Given the description of an element on the screen output the (x, y) to click on. 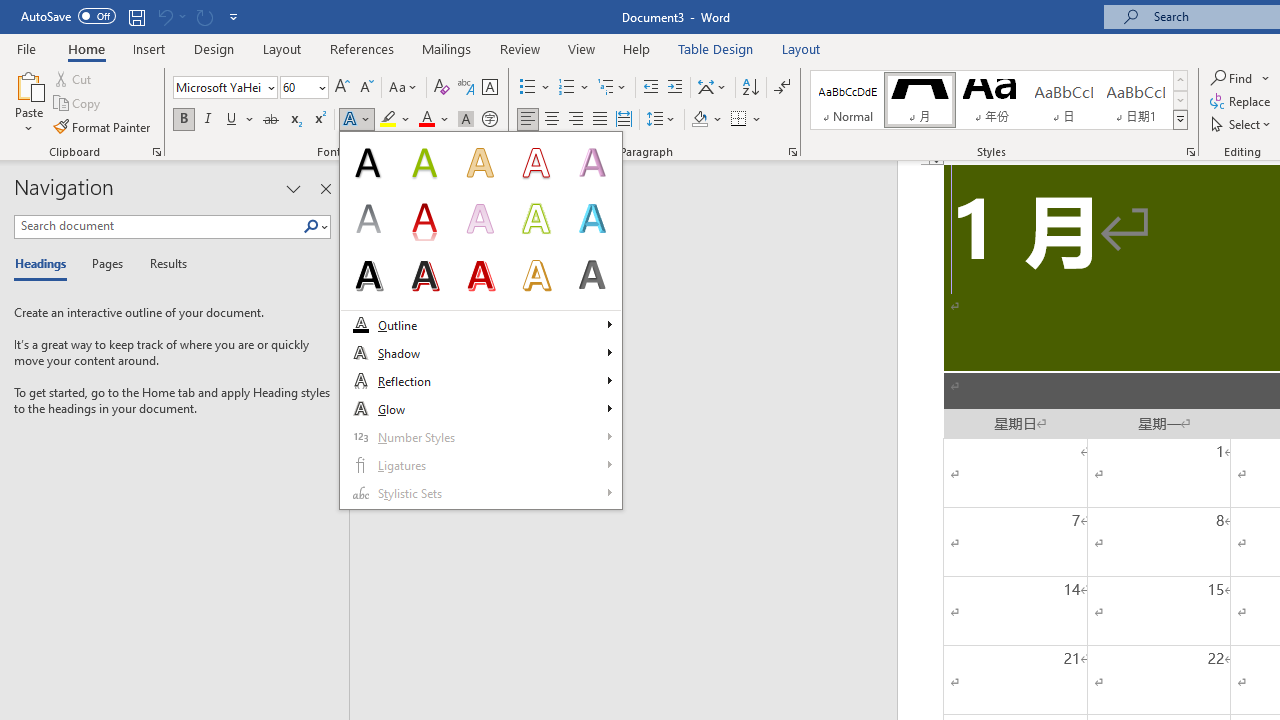
Font Color RGB(255, 0, 0) (426, 119)
